Given the description of an element on the screen output the (x, y) to click on. 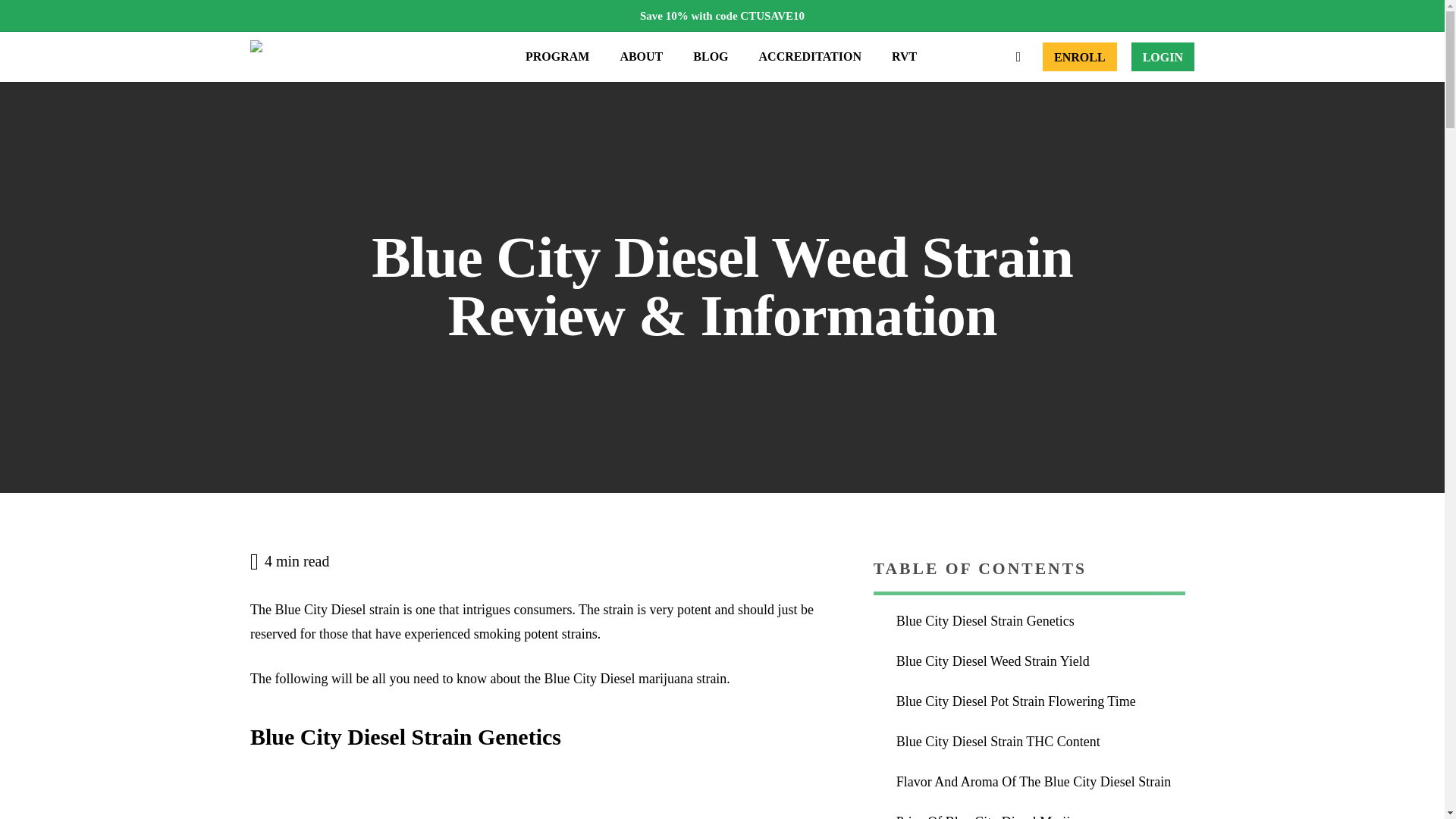
Blue City Diesel Strain Genetics (1040, 621)
Blue City Diesel Weed Strain Yield (1040, 661)
ABOUT (641, 56)
Log In (1162, 56)
PROGRAM (557, 56)
